Given the description of an element on the screen output the (x, y) to click on. 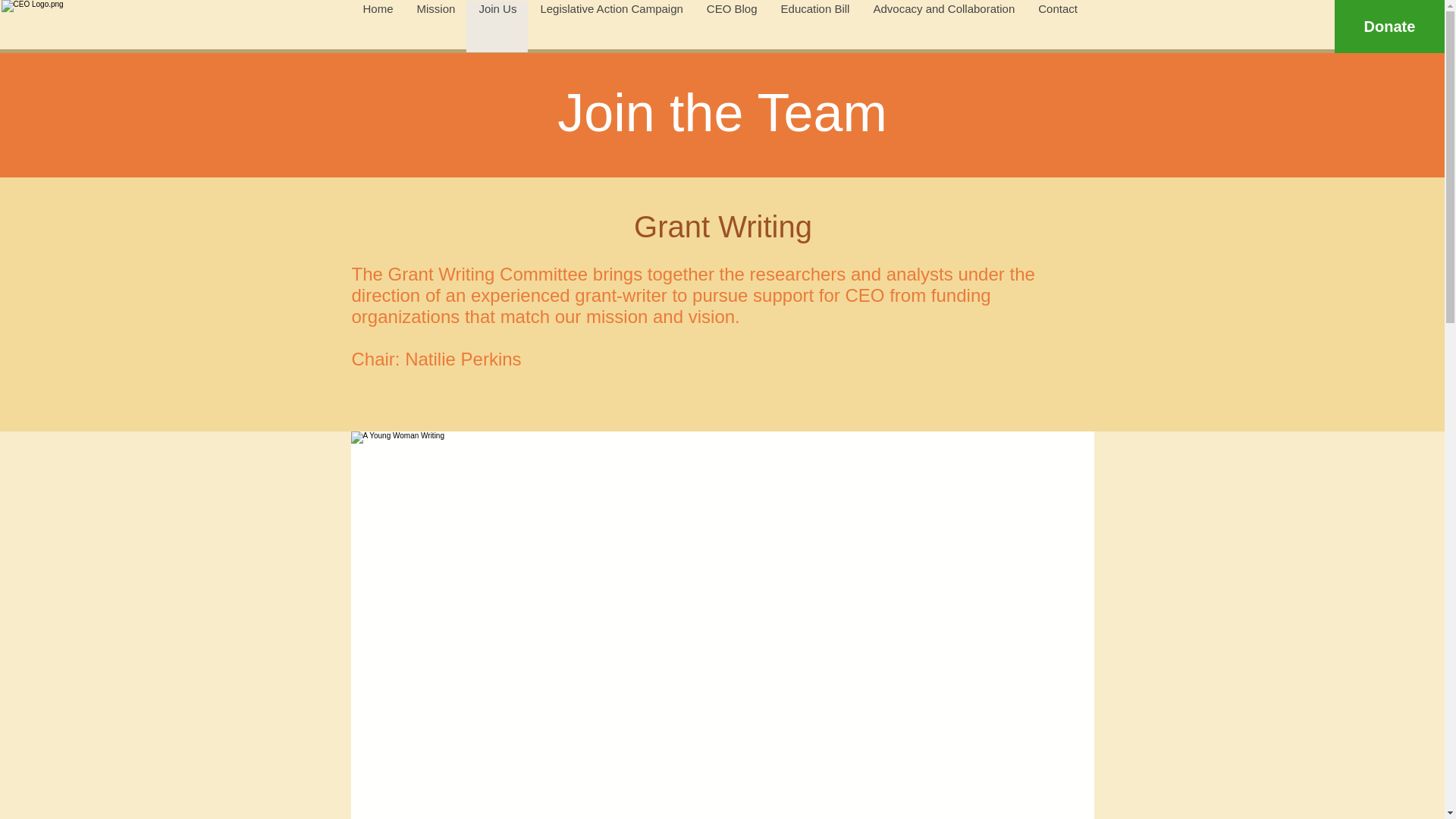
Contact (1057, 26)
Join Us (496, 26)
Community Equity Organization (160, 26)
Mission (435, 26)
Home (377, 26)
CEO Blog (731, 26)
Education Bill (814, 26)
Advocacy and Collaboration (943, 26)
Legislative Action Campaign (610, 26)
